Given the description of an element on the screen output the (x, y) to click on. 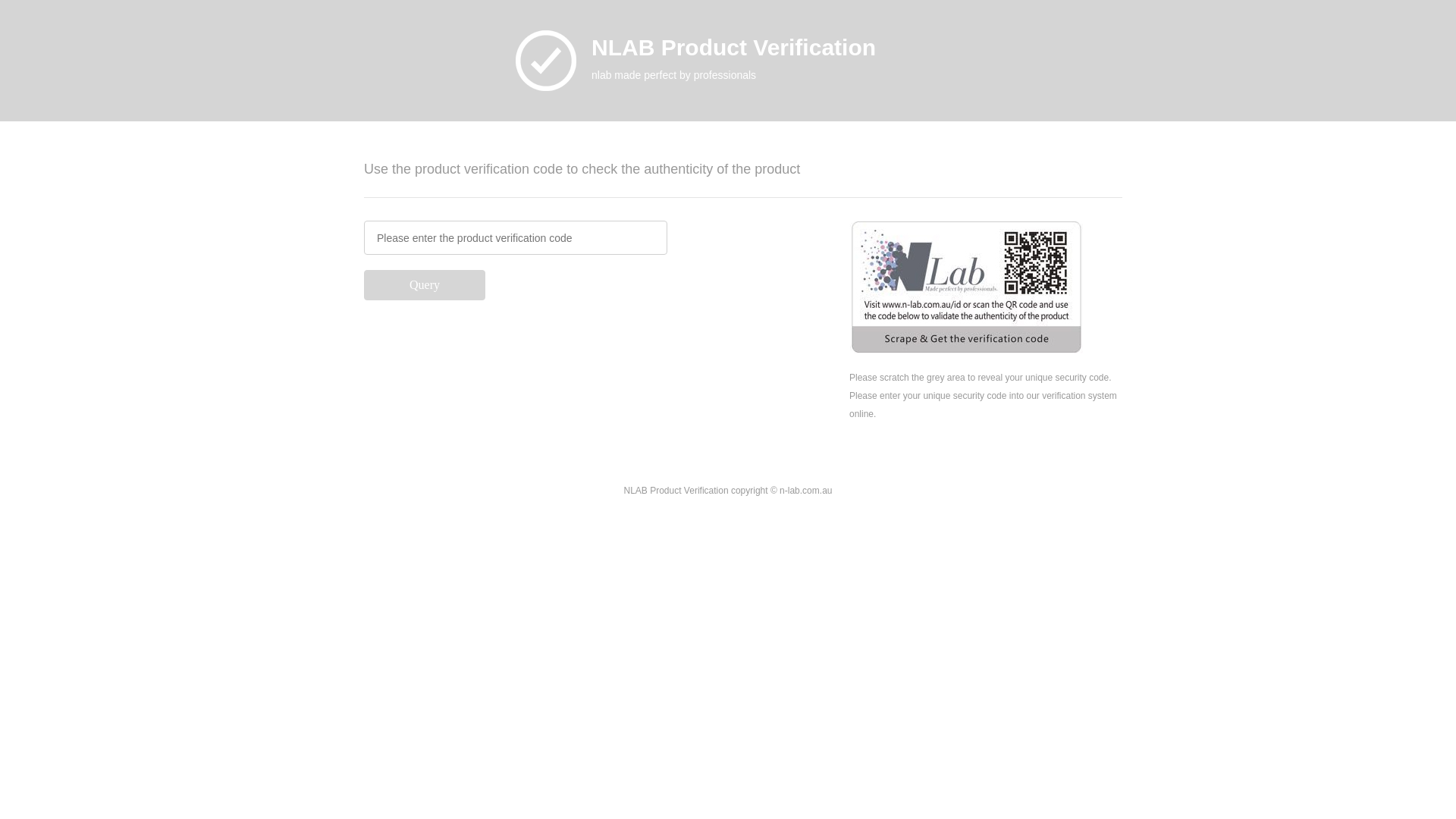
Query Element type: text (424, 284)
